Given the description of an element on the screen output the (x, y) to click on. 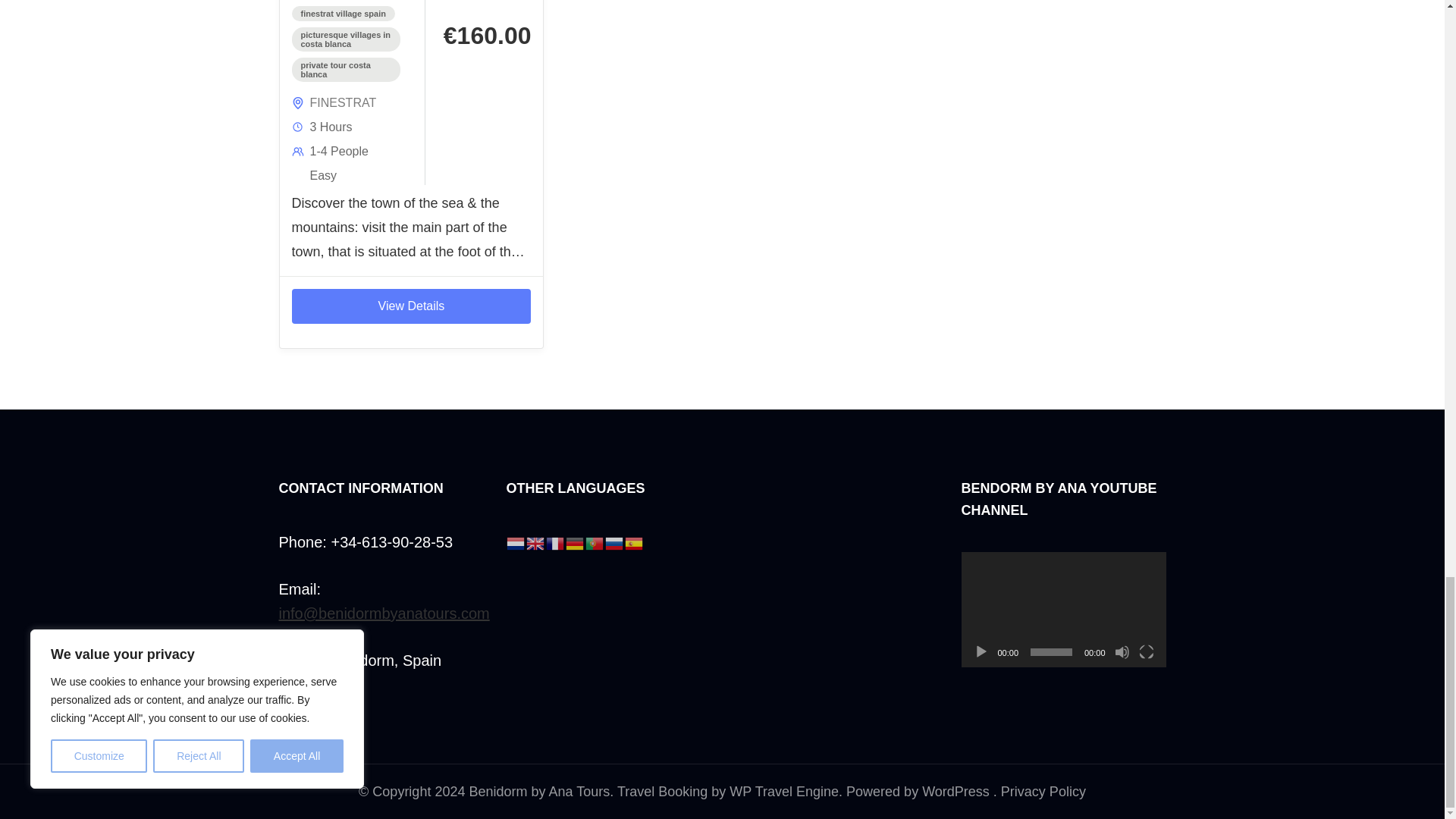
English (535, 541)
Nederlands (515, 541)
Mute (1122, 652)
Play (981, 652)
Deutsch (575, 541)
Fullscreen (1146, 652)
